Given the description of an element on the screen output the (x, y) to click on. 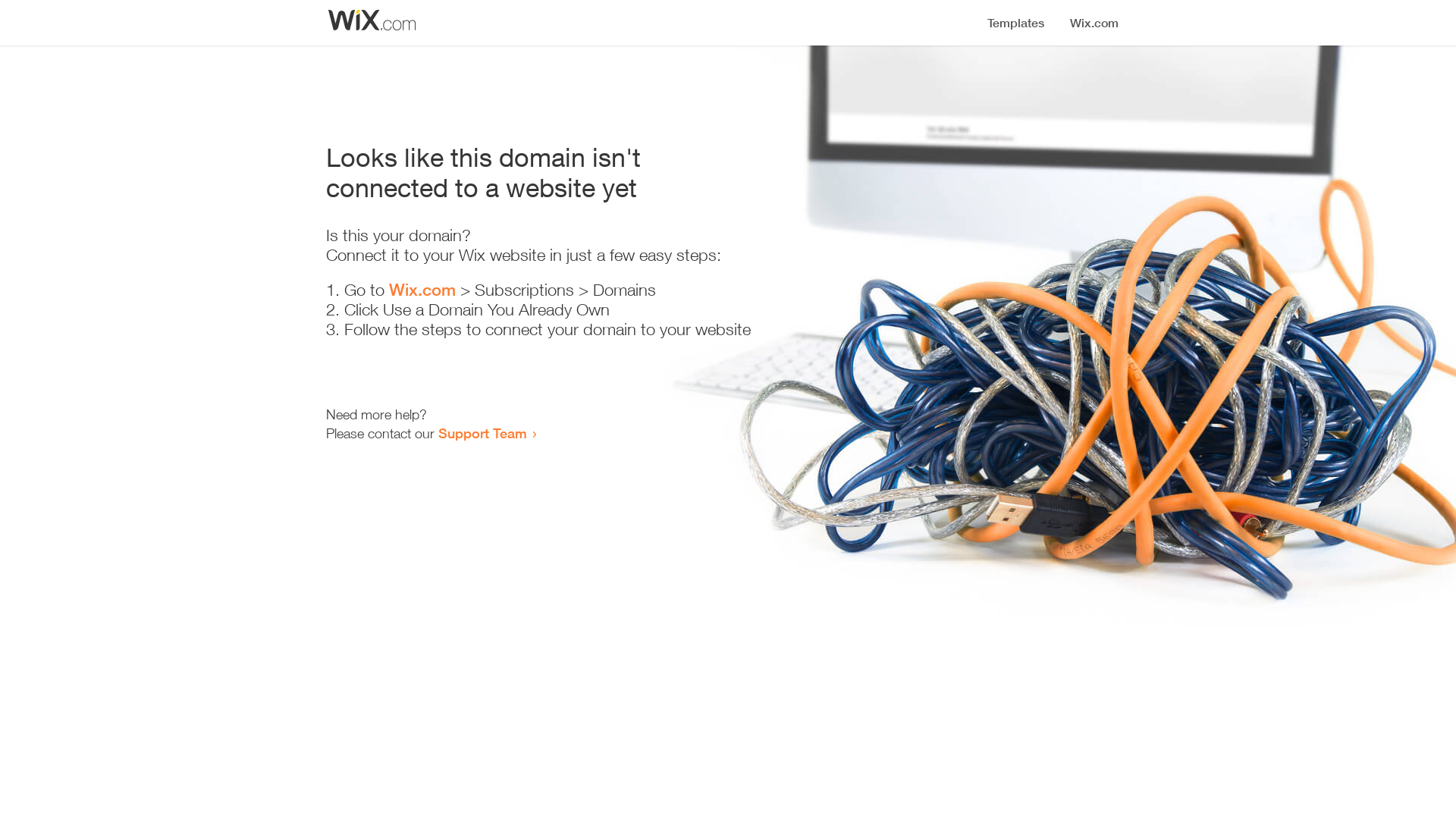
Support Team Element type: text (482, 432)
Wix.com Element type: text (422, 289)
